Given the description of an element on the screen output the (x, y) to click on. 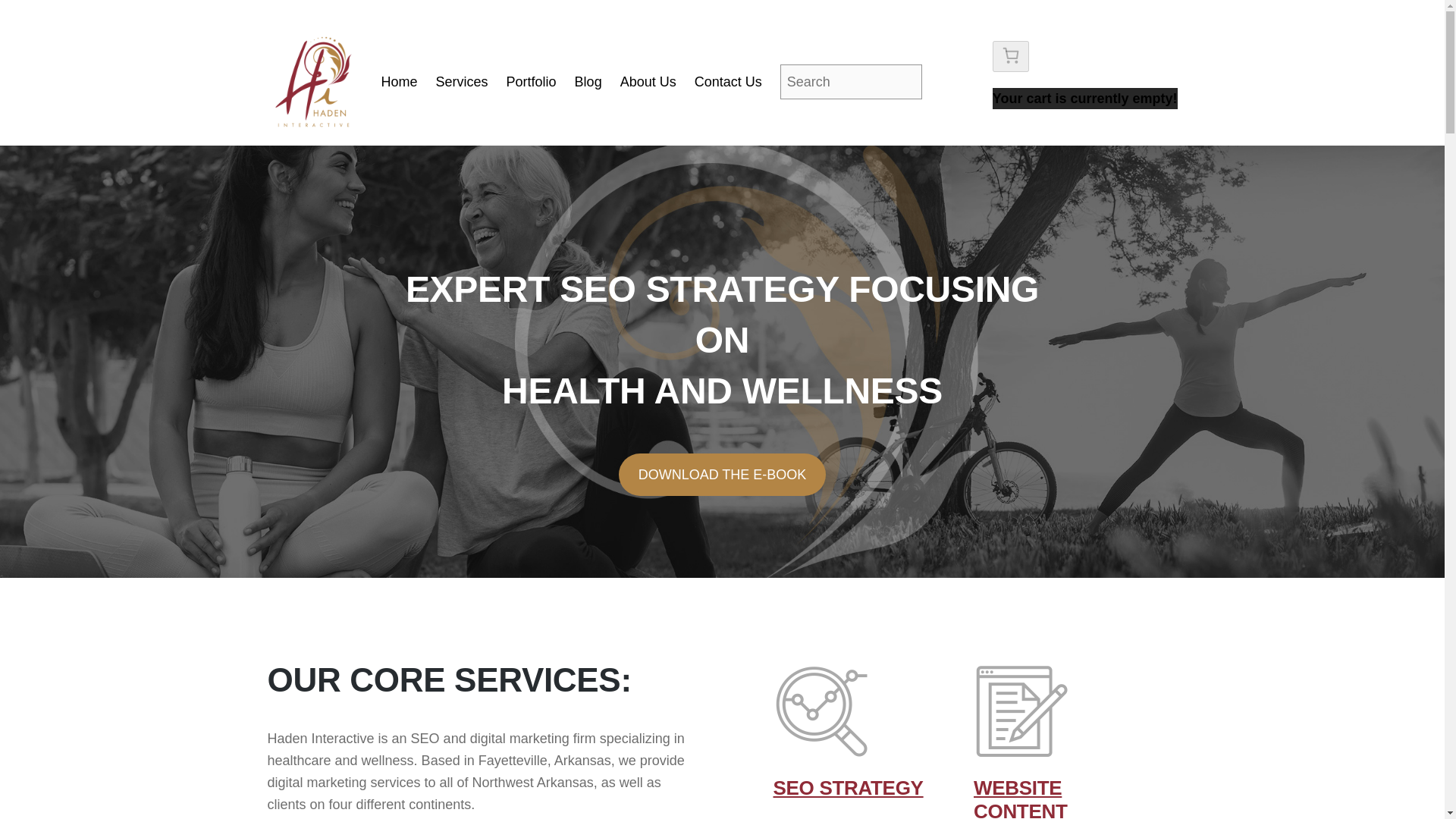
Blog (588, 82)
DOWNLOAD THE E-BOOK (722, 474)
WEBSITE CONTENT (1020, 797)
Portfolio (531, 82)
About Us (648, 82)
Services (461, 82)
Contact Us (727, 82)
Home (399, 82)
SEO STRATEGY (848, 787)
